Given the description of an element on the screen output the (x, y) to click on. 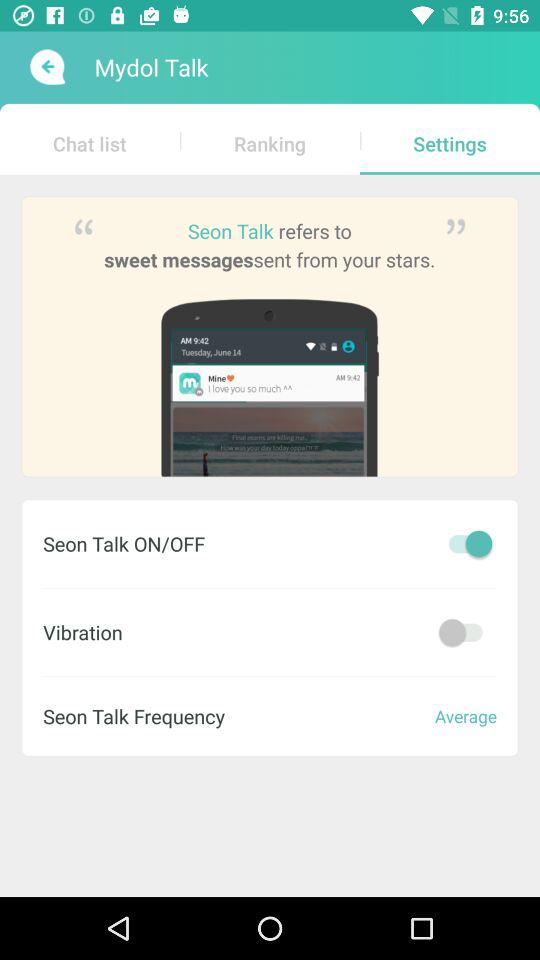
seon talk on/off toggler (465, 543)
